Given the description of an element on the screen output the (x, y) to click on. 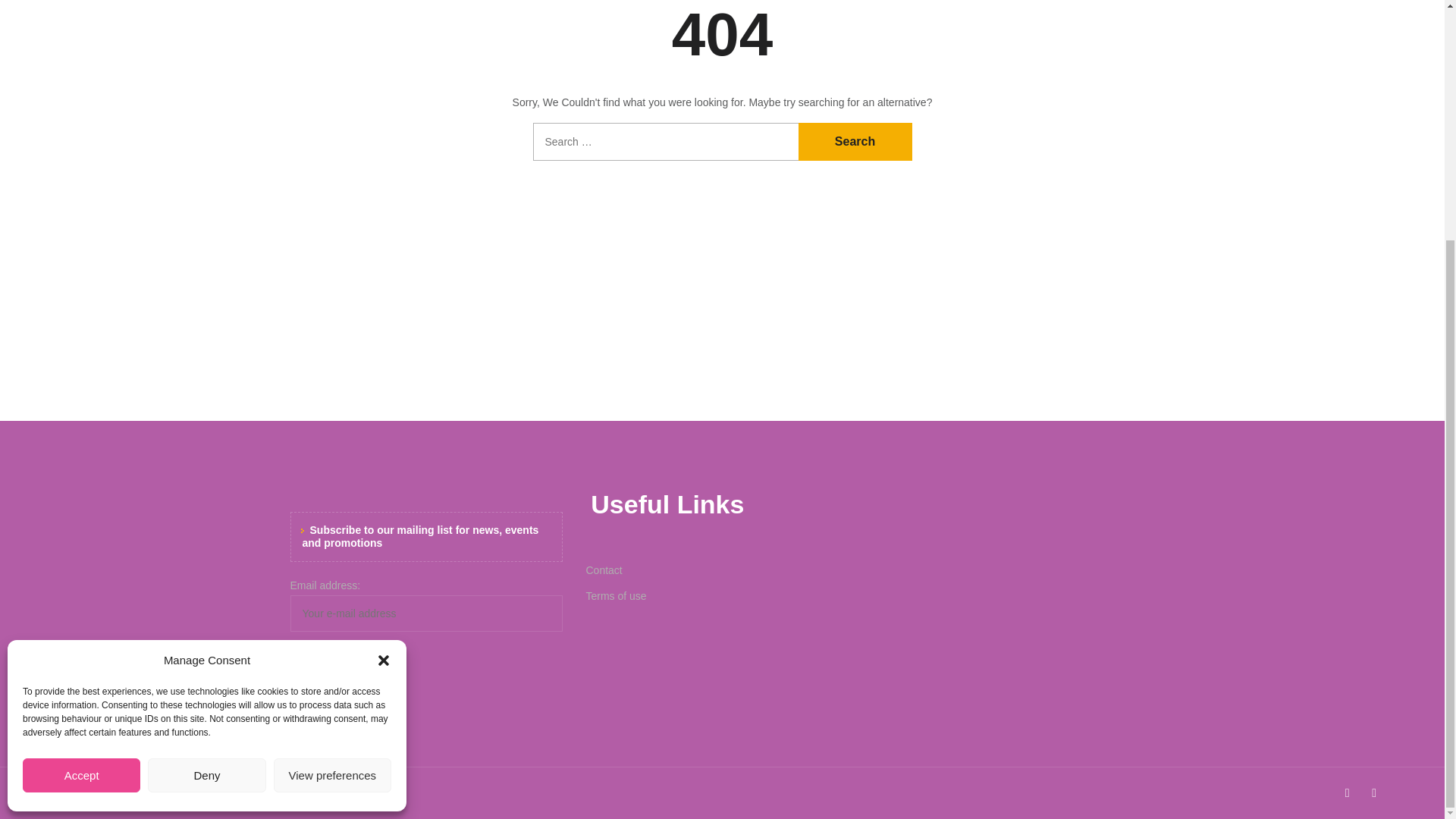
Terms of use (722, 596)
Contact (722, 570)
Search (854, 141)
Accept (81, 444)
View preferences (332, 444)
Sign up (346, 660)
Search (854, 141)
Search (854, 141)
Deny (206, 444)
bizzily.co.uk (175, 792)
Sign up (346, 660)
